Given the description of an element on the screen output the (x, y) to click on. 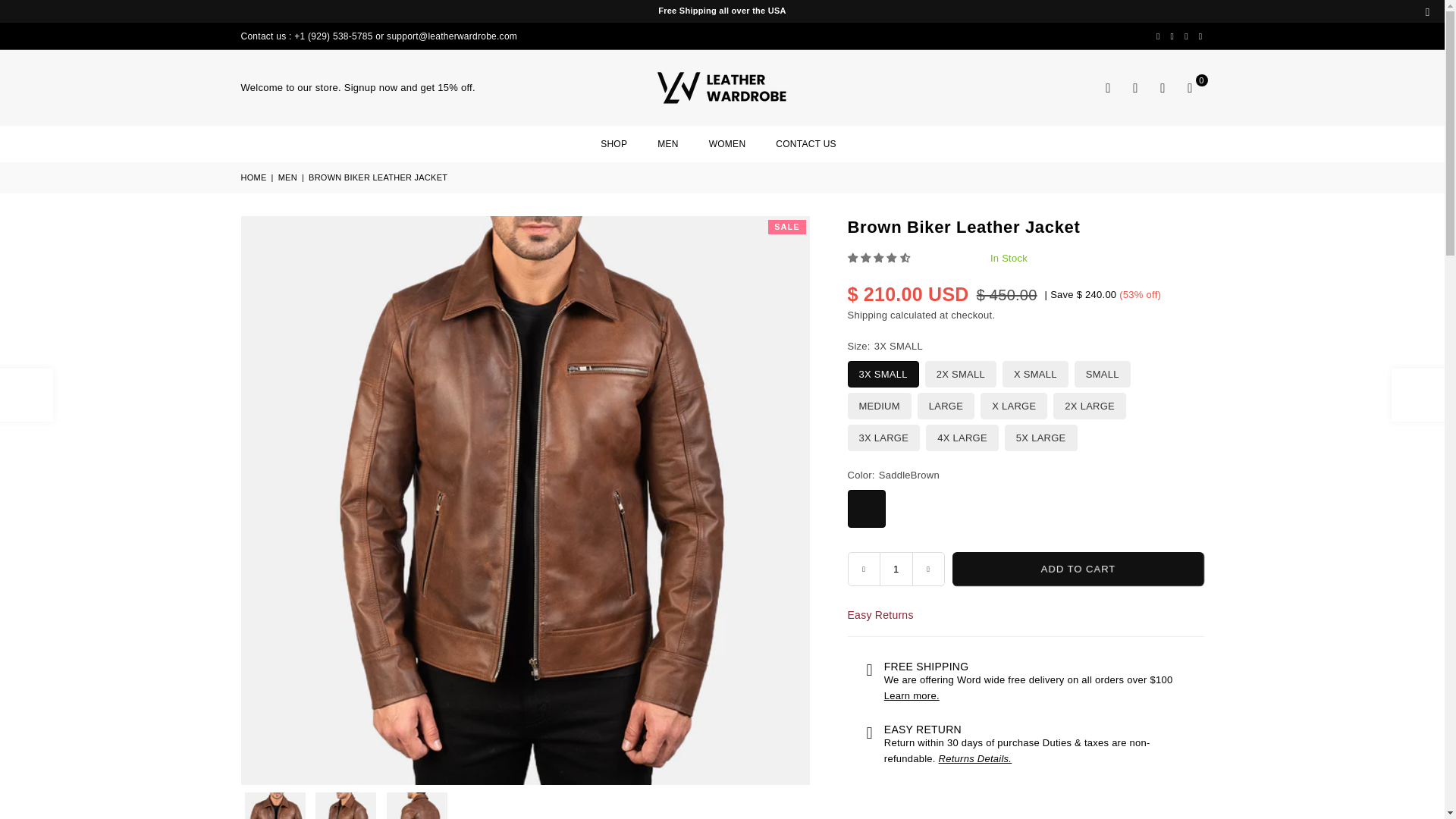
Facebook (1158, 35)
SHOP (614, 143)
Leather Wardrobe on Whatsapp (1200, 35)
Leather Wardrobe on Instagram (1186, 35)
Pinterest (1172, 35)
Brown Biker Leather Jacket - Leather Wardrobe (345, 805)
Free Shipping all over the USA (722, 10)
Leather Wardrobe on Pinterest (1172, 35)
Brown Biker Leather Jacket (274, 805)
MEN (667, 143)
Cart (1190, 87)
Brown Biker Leather Jacket - Leather Wardrobe (416, 805)
Leather Wardrobe on Facebook (1158, 35)
0 (1190, 87)
Settings (1136, 87)
